Given the description of an element on the screen output the (x, y) to click on. 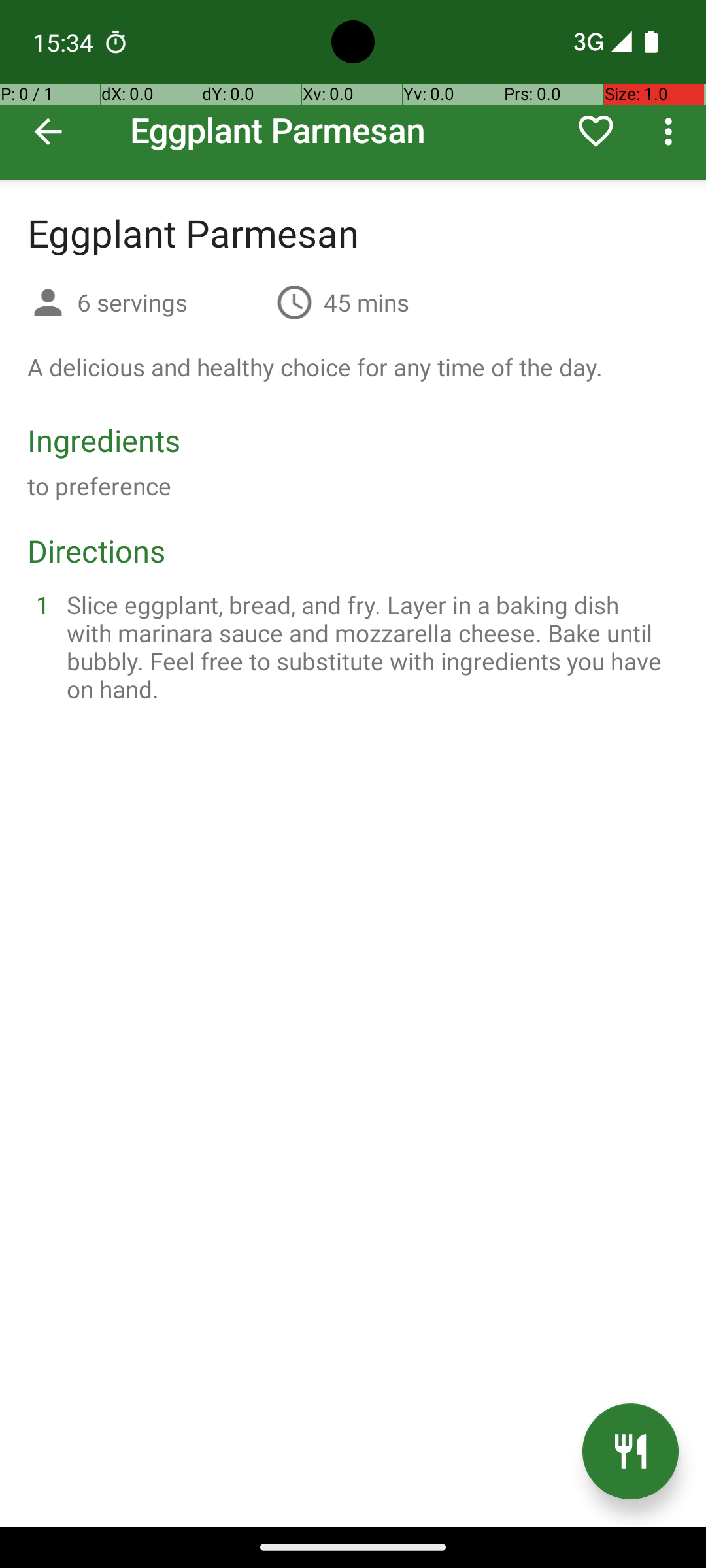
Slice eggplant, bread, and fry. Layer in a baking dish with marinara sauce and mozzarella cheese. Bake until bubbly. Feel free to substitute with ingredients you have on hand. Element type: android.widget.TextView (368, 646)
